Given the description of an element on the screen output the (x, y) to click on. 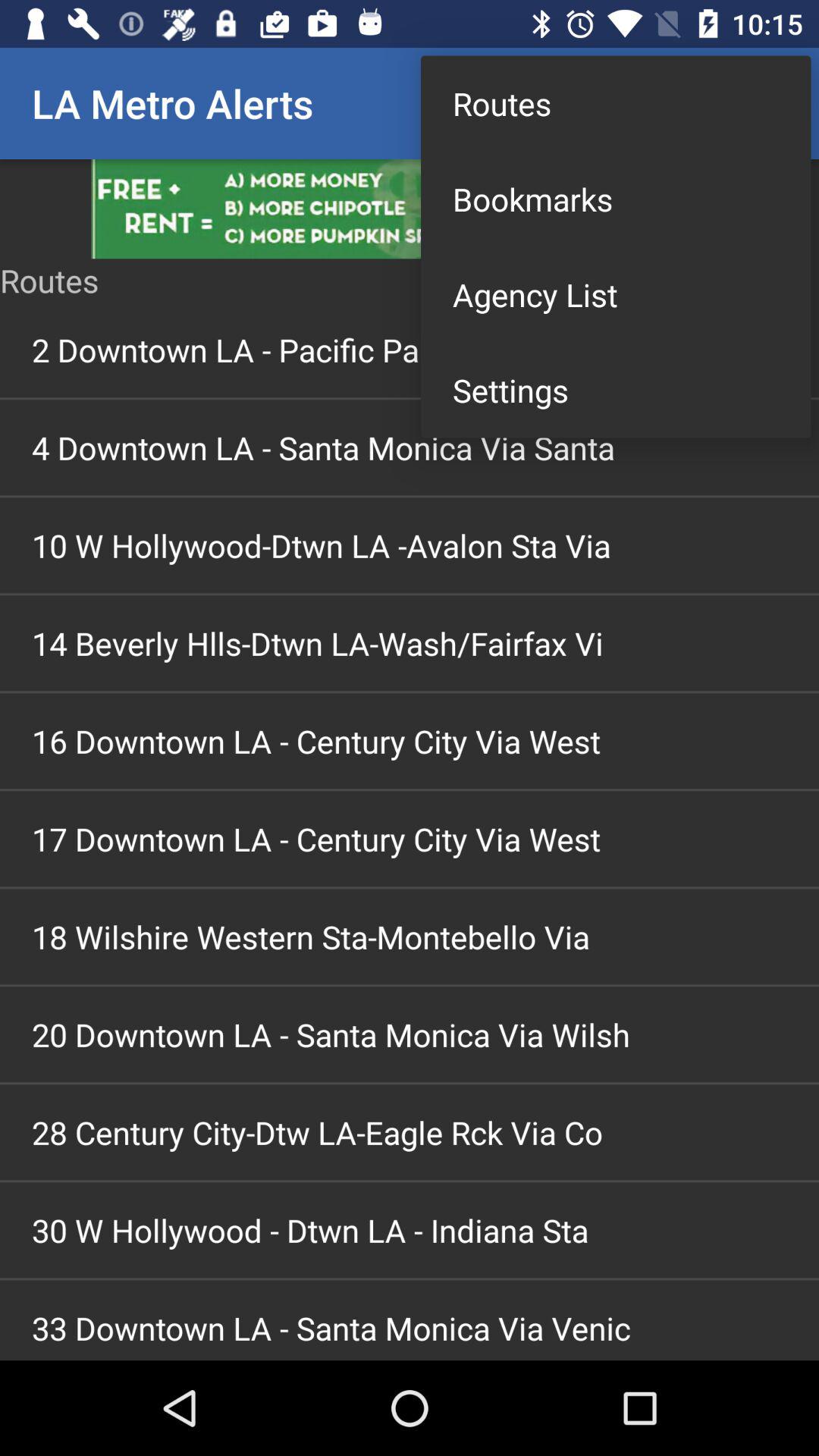
open this advertisement (409, 208)
